Given the description of an element on the screen output the (x, y) to click on. 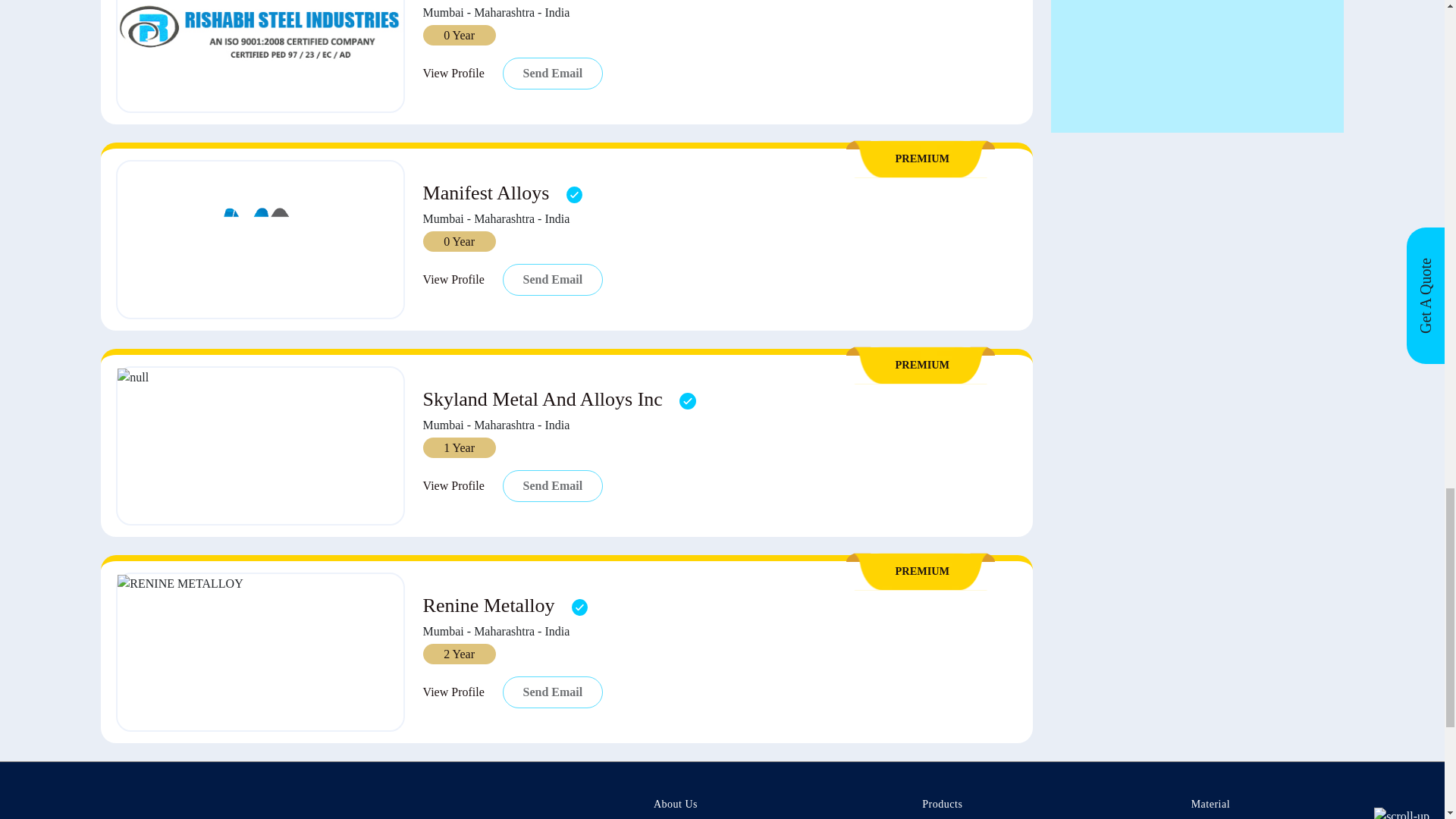
Tax ID verified. Email verified. (580, 606)
Tax ID verified. Email verified. (574, 194)
Tax ID verified. Email verified. (687, 400)
